Given the description of an element on the screen output the (x, y) to click on. 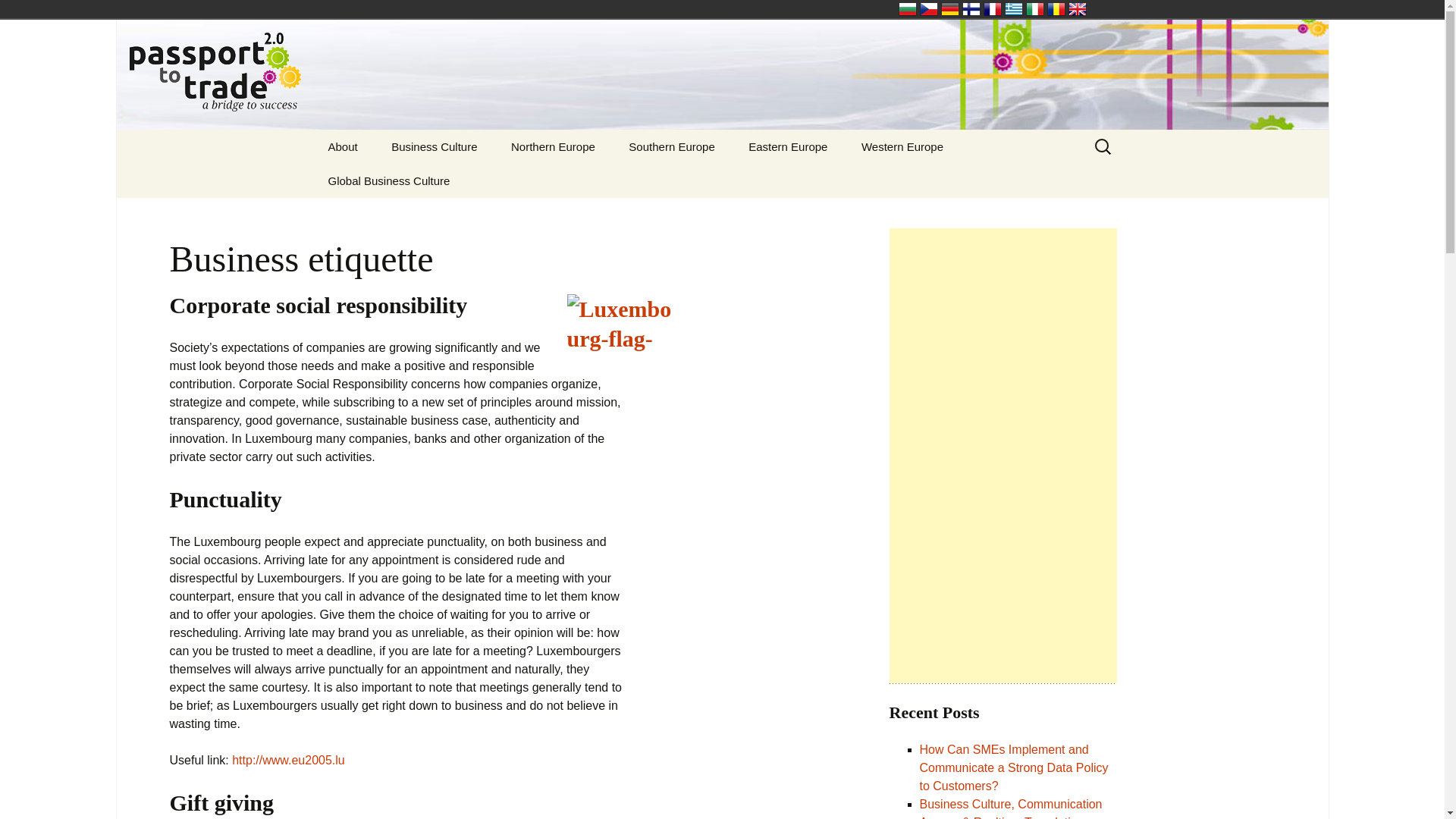
Purchase guides (388, 180)
Southern Europe (670, 146)
Social Networking (451, 180)
Northern Europe (553, 146)
Croatia (688, 180)
Business Culture (433, 146)
About (342, 146)
